Given the description of an element on the screen output the (x, y) to click on. 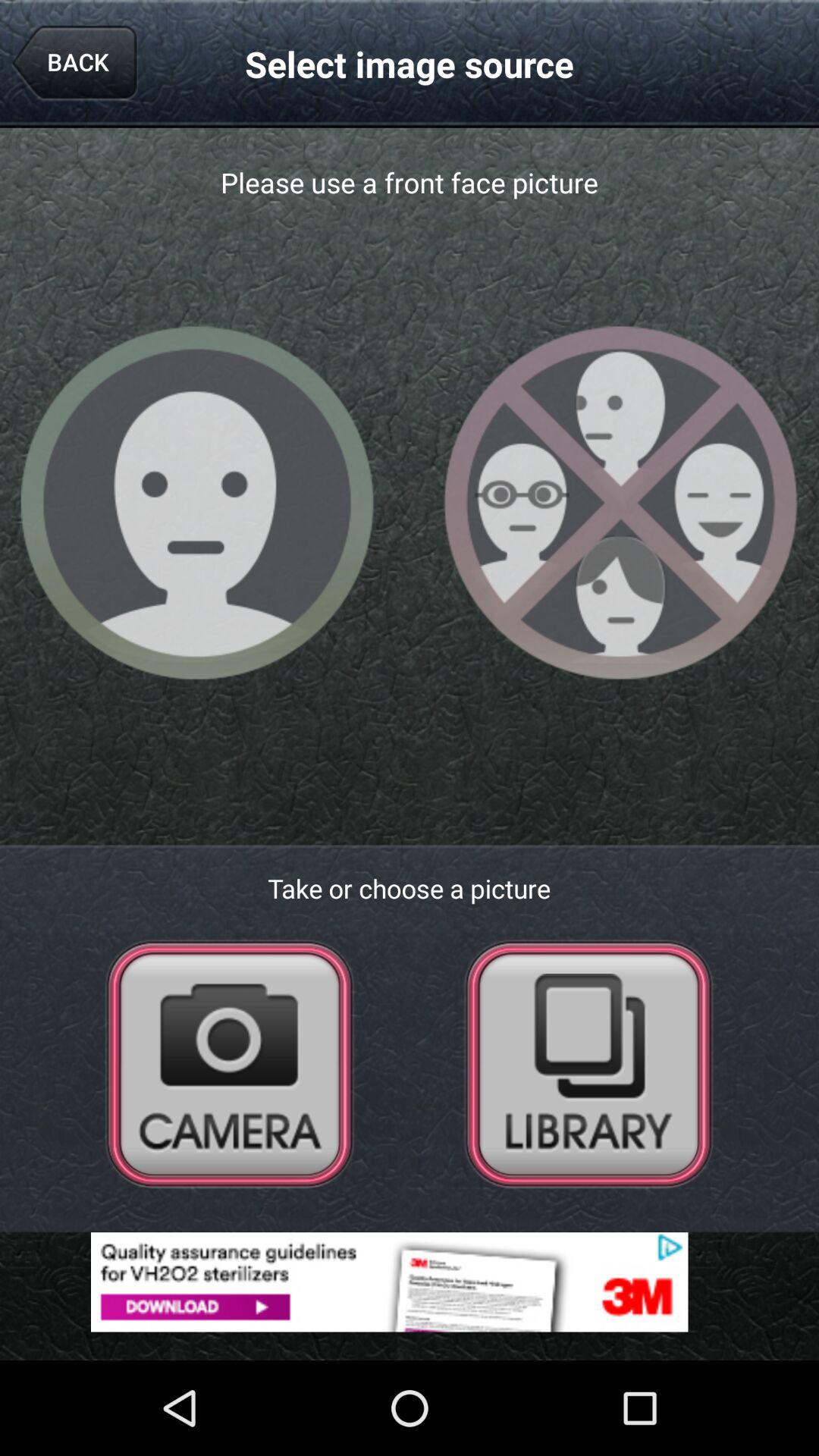
go to the camera (229, 1063)
